Given the description of an element on the screen output the (x, y) to click on. 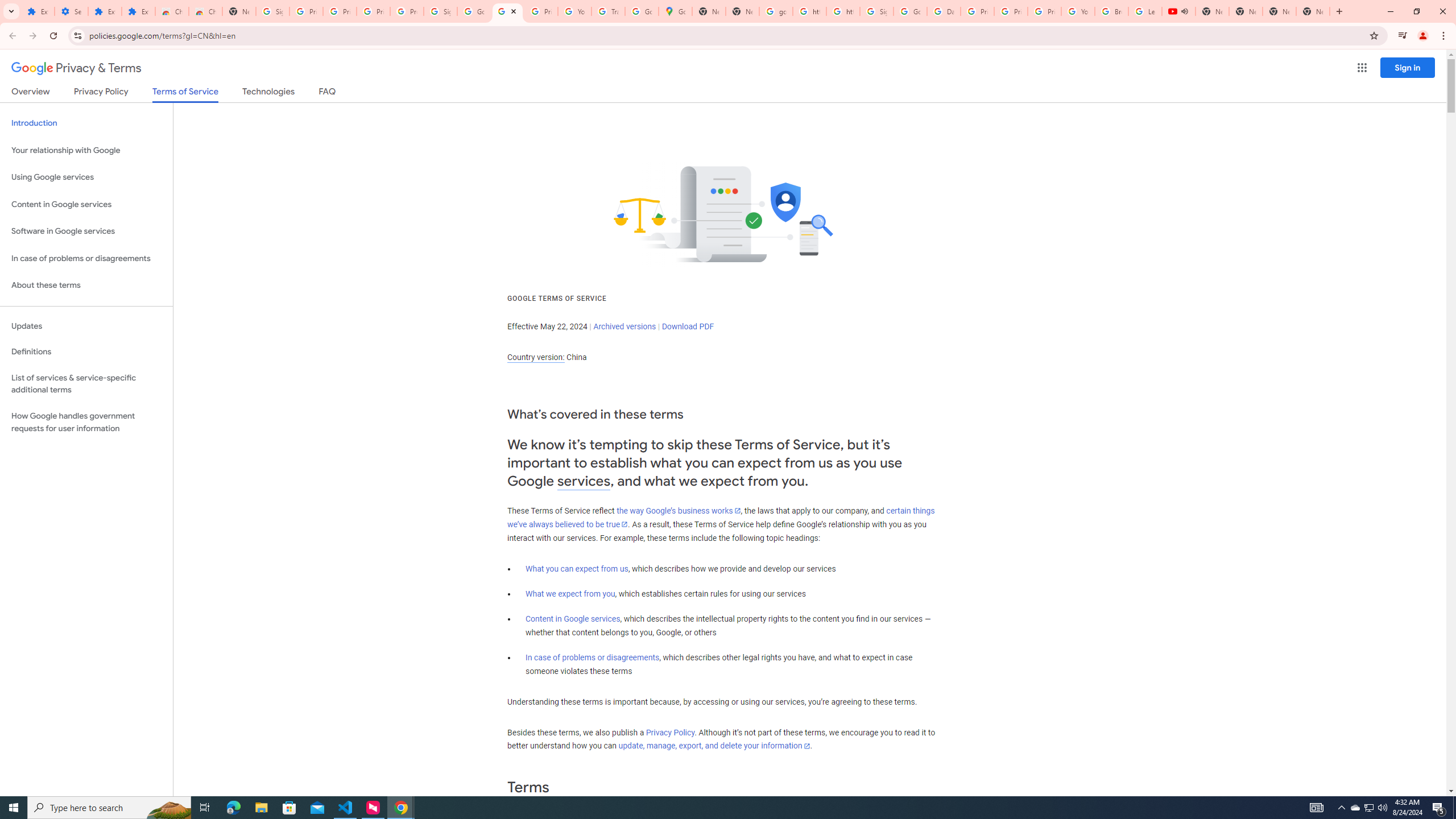
Chrome Web Store (171, 11)
Sign in - Google Accounts (876, 11)
